Given the description of an element on the screen output the (x, y) to click on. 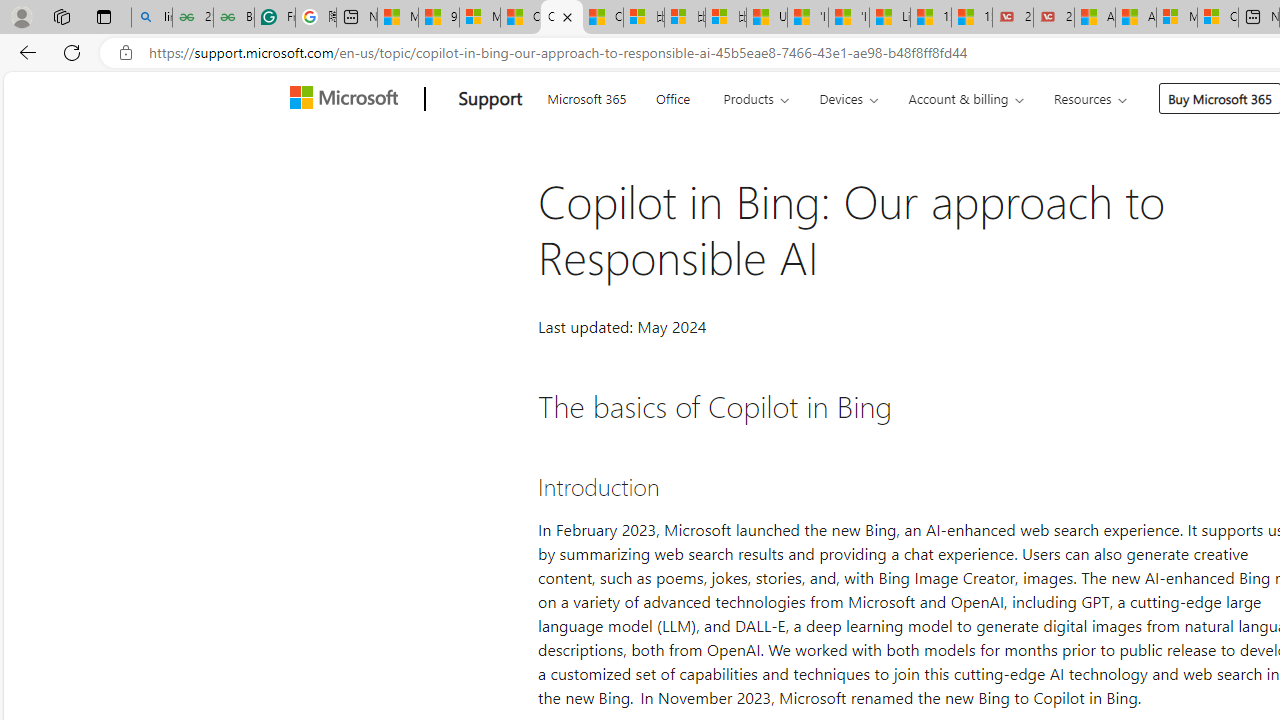
Cloud Computing Services | Microsoft Azure (1217, 17)
15 Ways Modern Life Contradicts the Teachings of Jesus (971, 17)
25 Basic Linux Commands For Beginners - GeeksforGeeks (192, 17)
Lifestyle - MSN (890, 17)
Microsoft (348, 99)
linux basic - Search (151, 17)
